Given the description of an element on the screen output the (x, y) to click on. 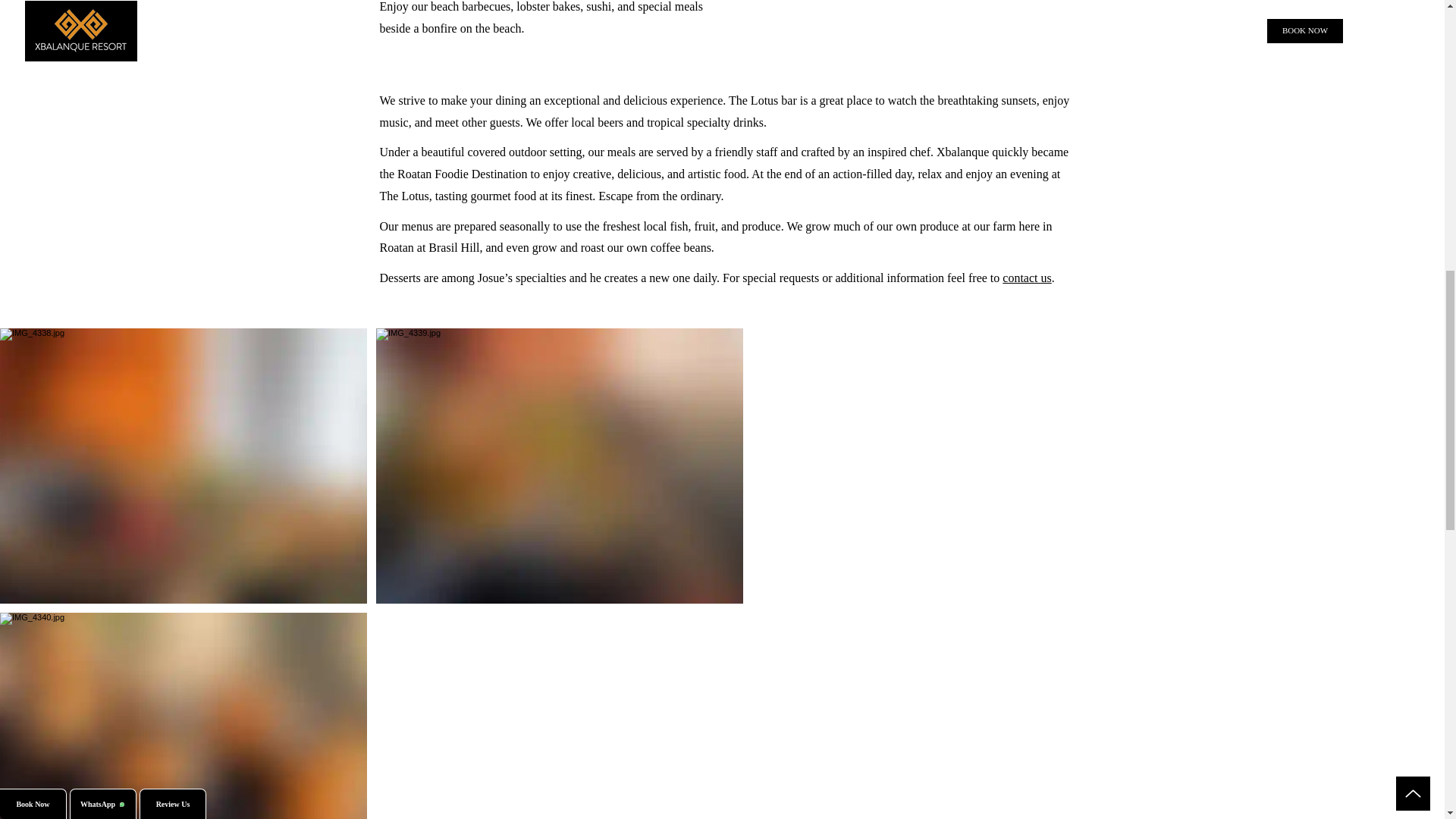
menus (416, 226)
contact us (1027, 277)
